Given the description of an element on the screen output the (x, y) to click on. 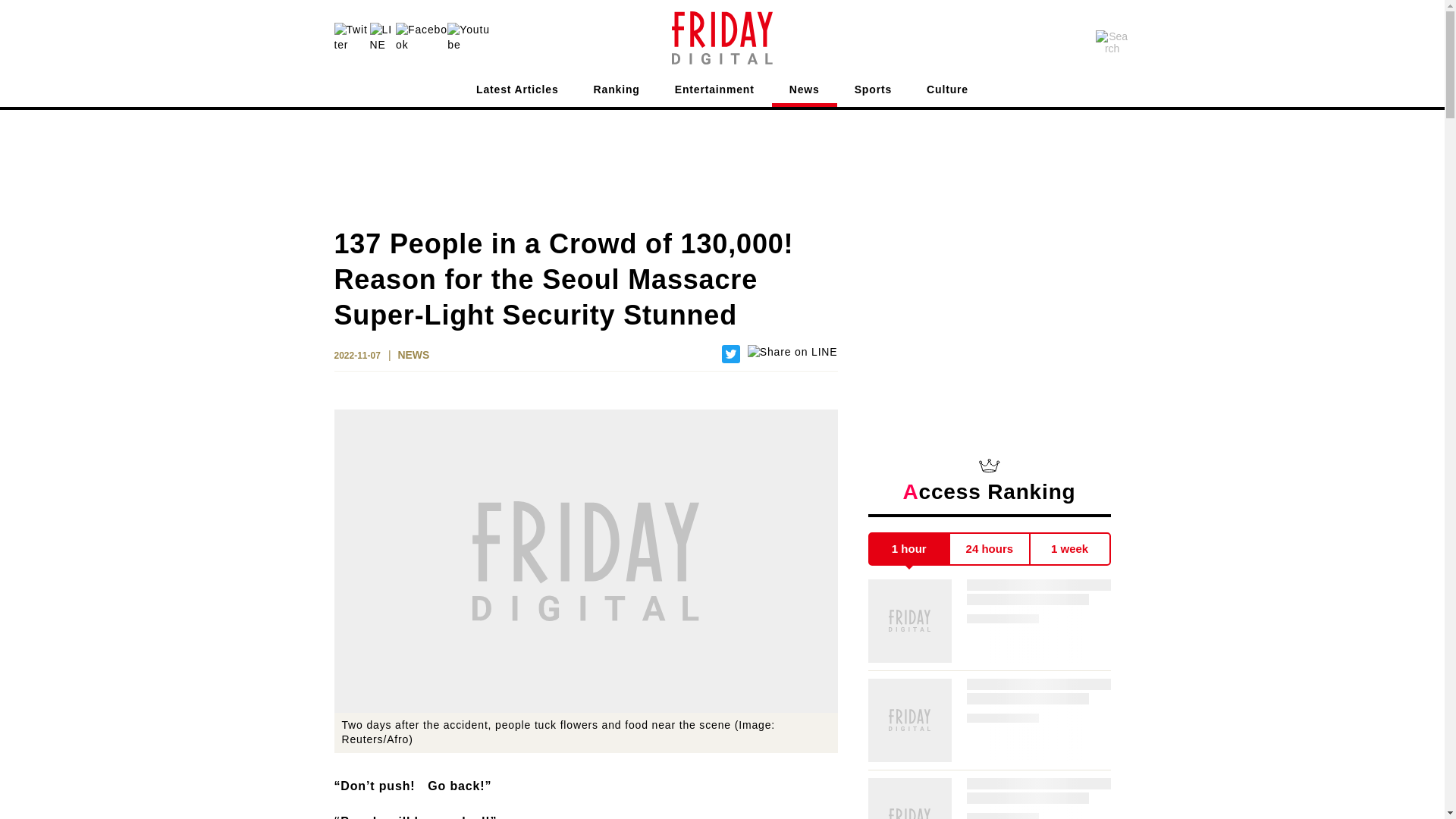
Entertainment (714, 92)
1 week (1069, 548)
24 hours (989, 548)
NEWS (413, 355)
1 hour (908, 548)
Latest Articles (517, 92)
News (804, 92)
Sports (872, 92)
Culture (946, 92)
Ranking (617, 92)
